Given the description of an element on the screen output the (x, y) to click on. 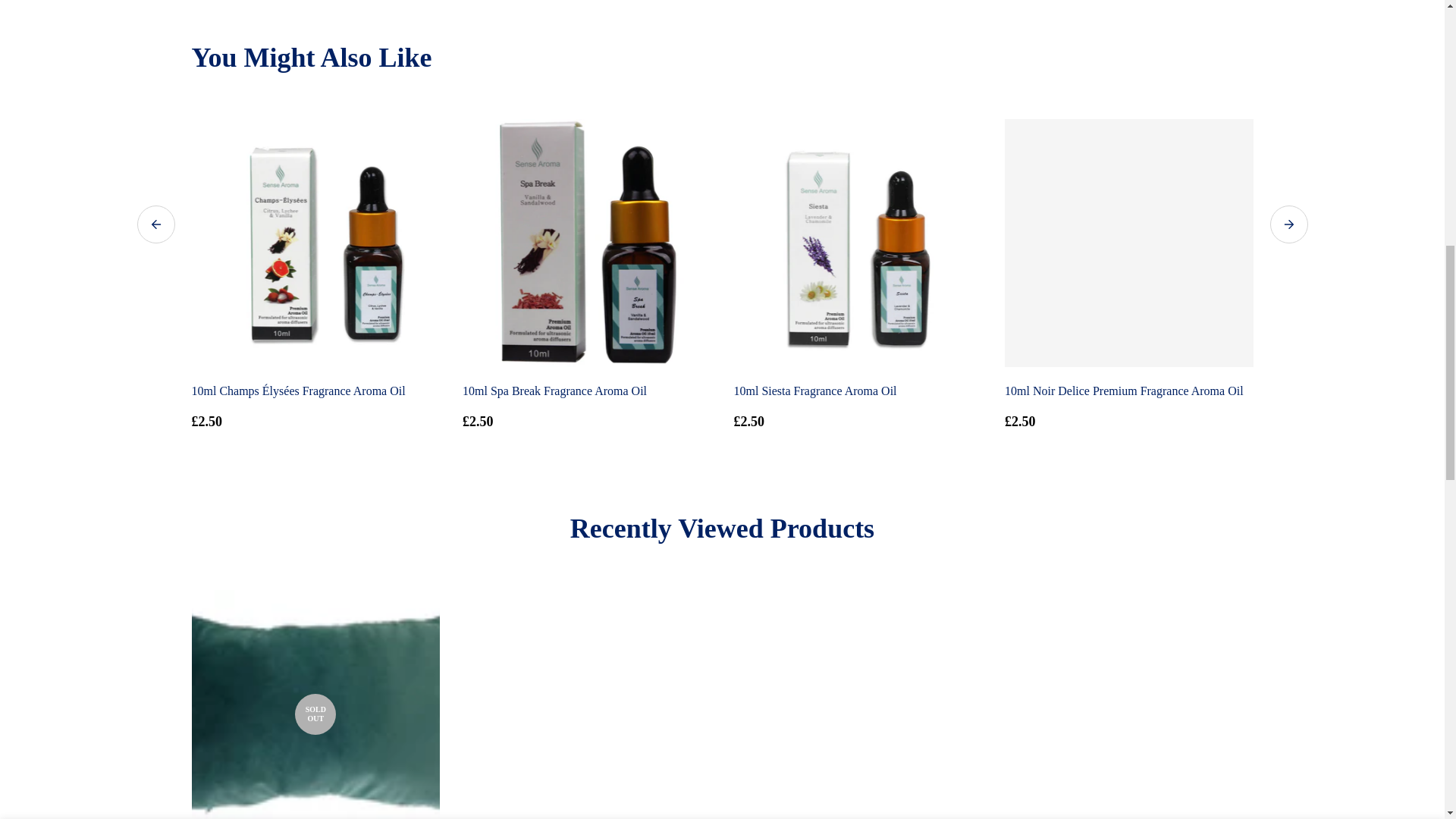
1 (1015, 27)
